Given the description of an element on the screen output the (x, y) to click on. 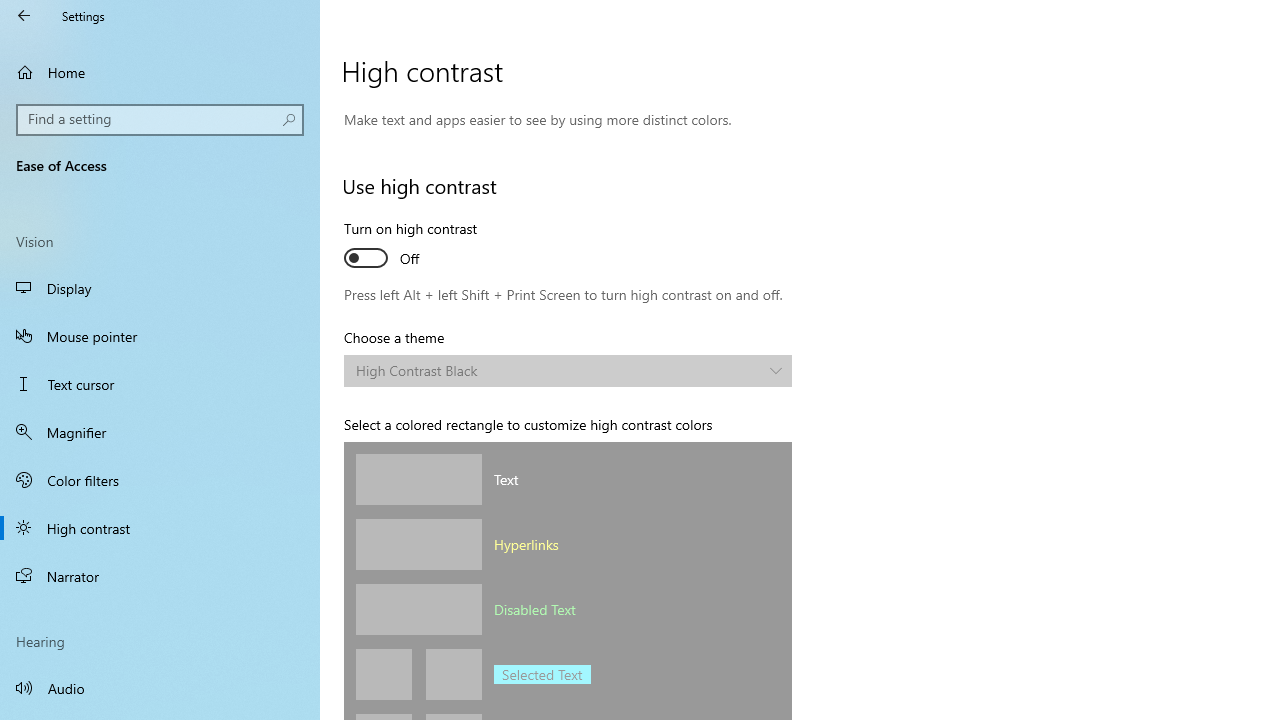
Home (160, 71)
High contrast theme (568, 370)
Color filters (160, 479)
Mouse pointer (160, 335)
